Given the description of an element on the screen output the (x, y) to click on. 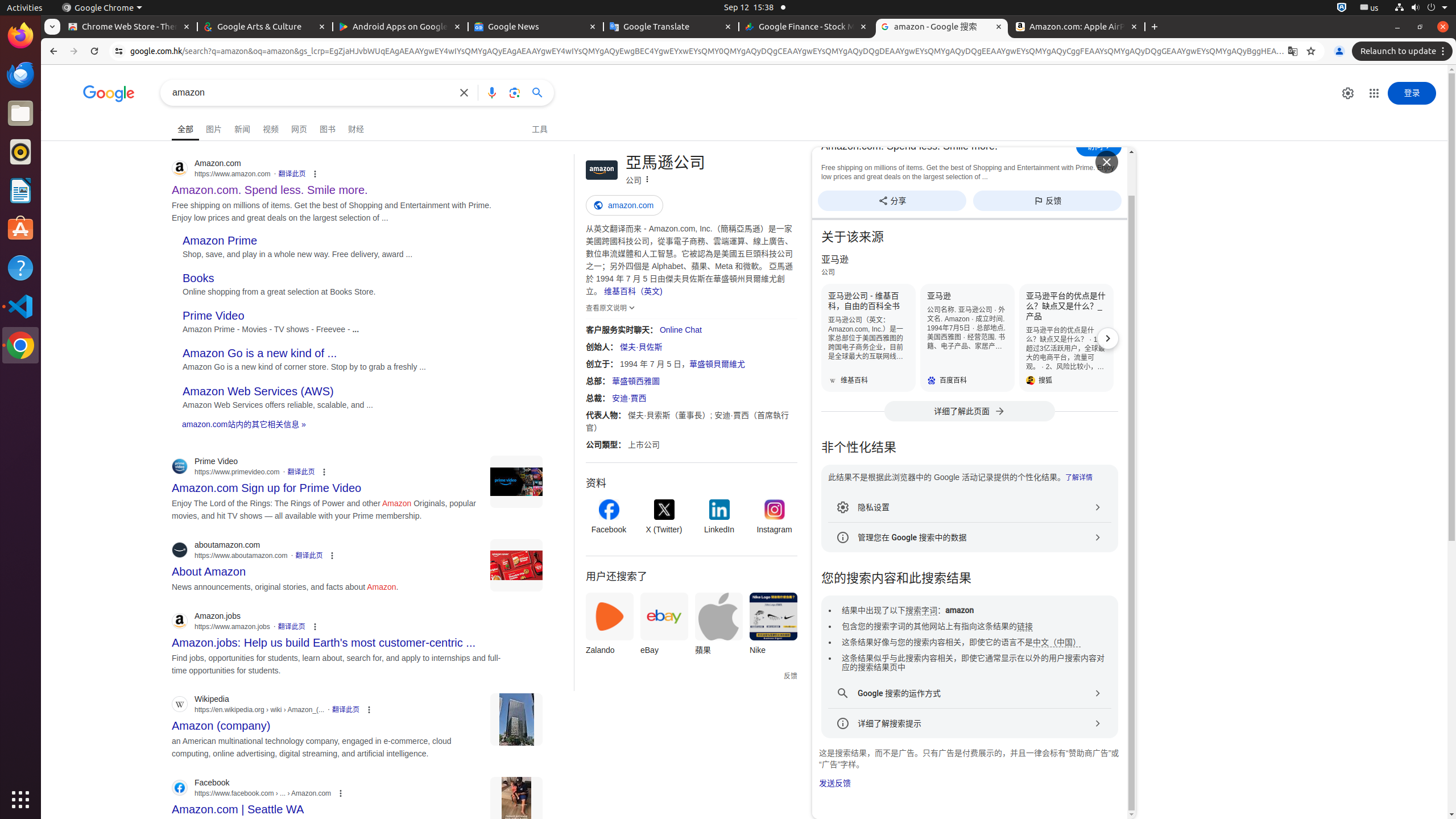
Relaunch to update Element type: push-button (1403, 50)
设置 Element type: push-button (1347, 92)
:1.72/StatusNotifierItem Element type: menu (1341, 7)
了解详情 Element type: link (1078, 477)
这条结果似乎与此搜索内容相关，即使它通常显示在以外的用户搜索内容对应的搜索结果页中 Element type: push-button (972, 662)
